Given the description of an element on the screen output the (x, y) to click on. 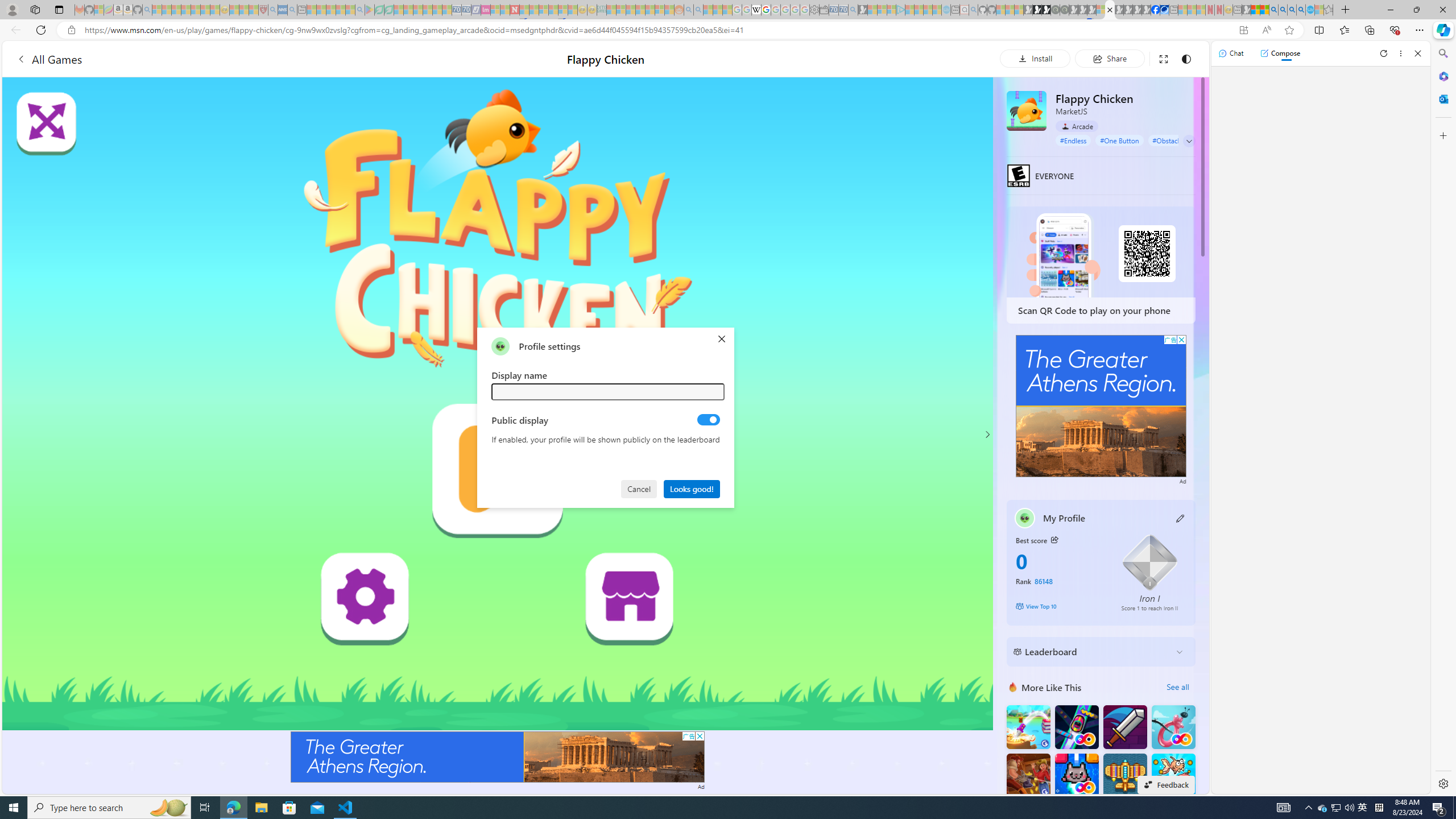
AirNow.gov (1163, 9)
Saloon Robbery (1028, 775)
More Like This (1012, 686)
